Given the description of an element on the screen output the (x, y) to click on. 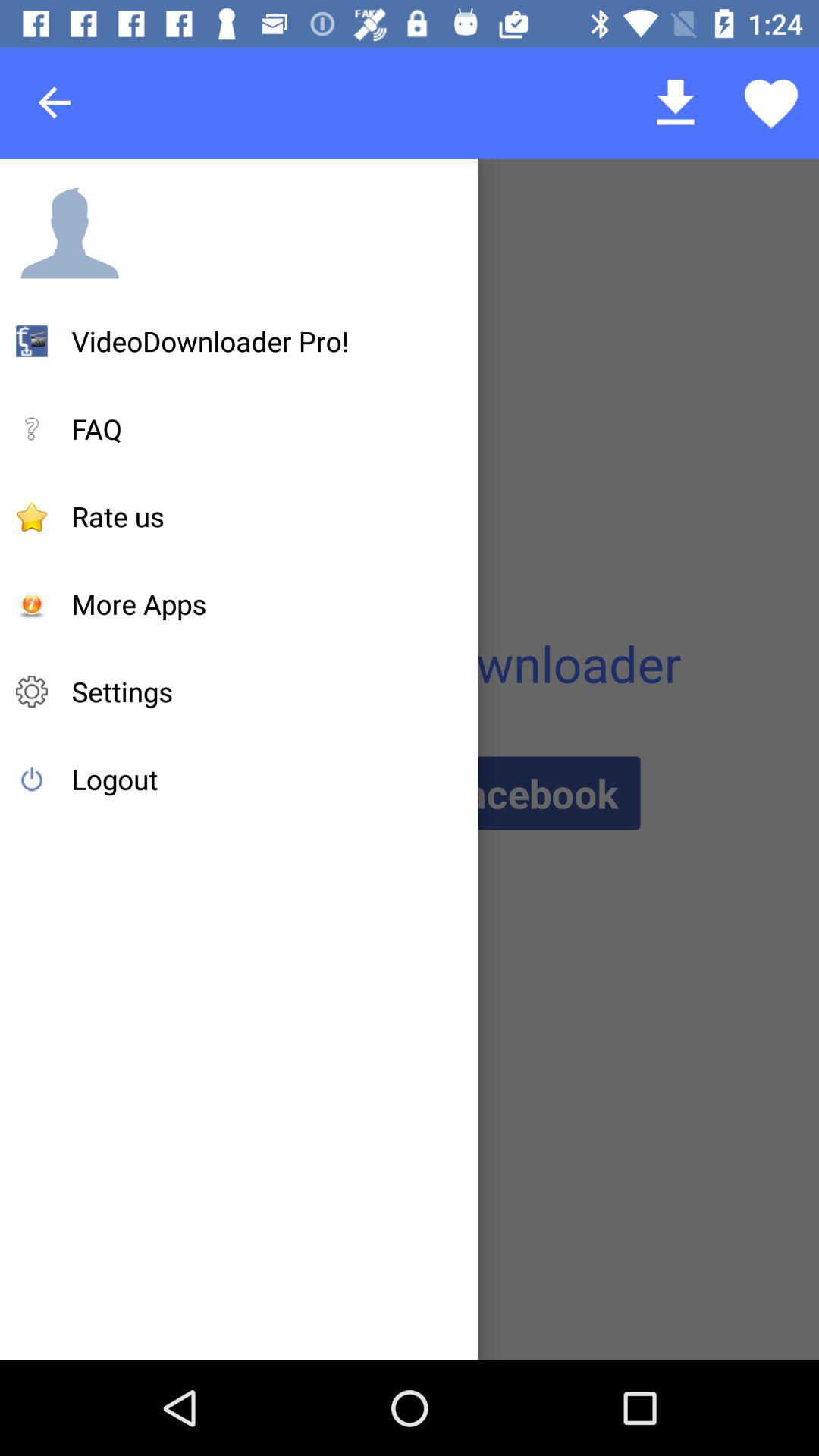
jump to the settings (121, 691)
